Given the description of an element on the screen output the (x, y) to click on. 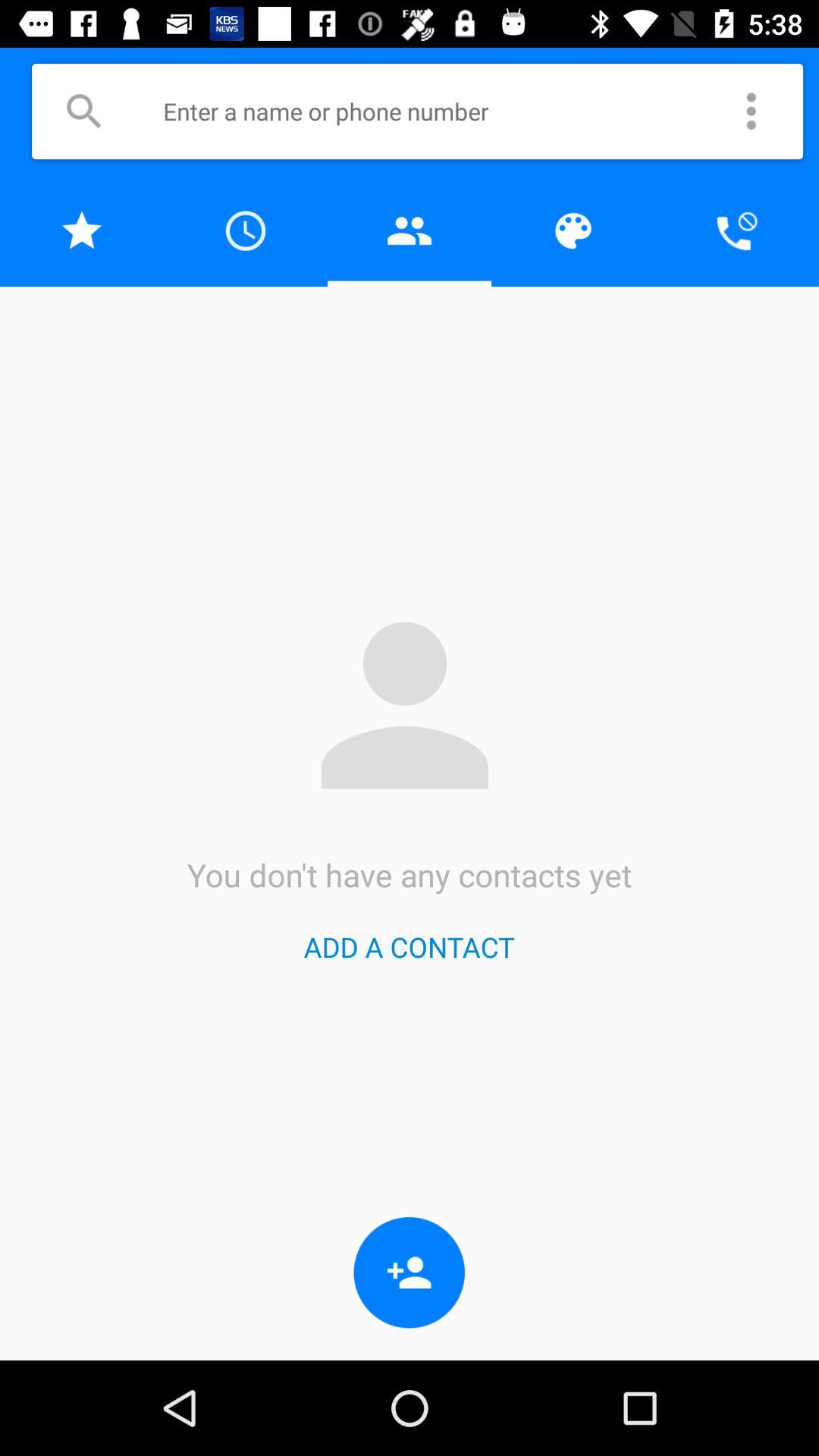
toggle favorite (81, 230)
